Given the description of an element on the screen output the (x, y) to click on. 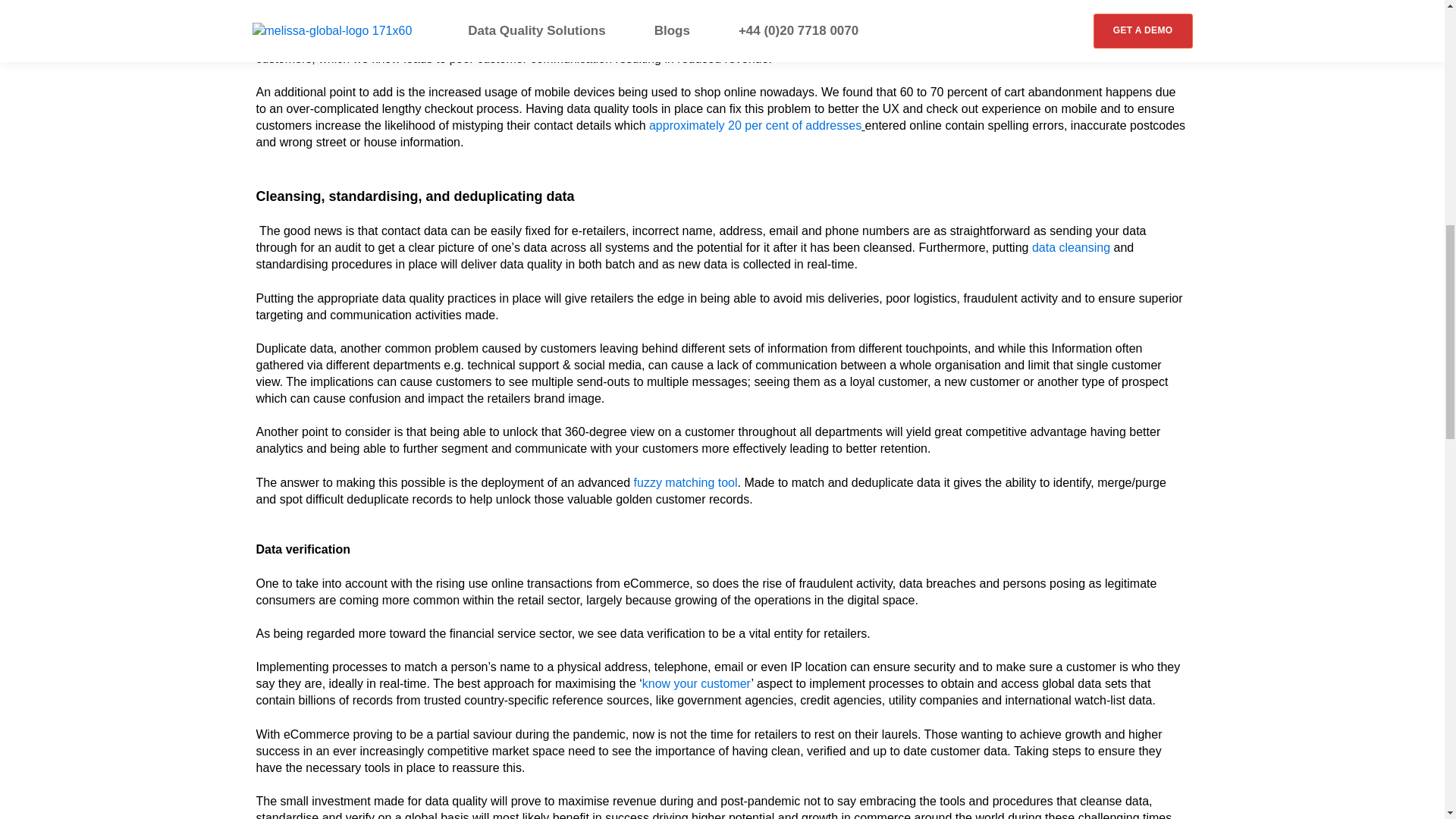
approximately 20 per cent of addresses (755, 124)
data cleansing (1070, 246)
know your customer (696, 683)
fuzzy matching tool (685, 481)
